Given the description of an element on the screen output the (x, y) to click on. 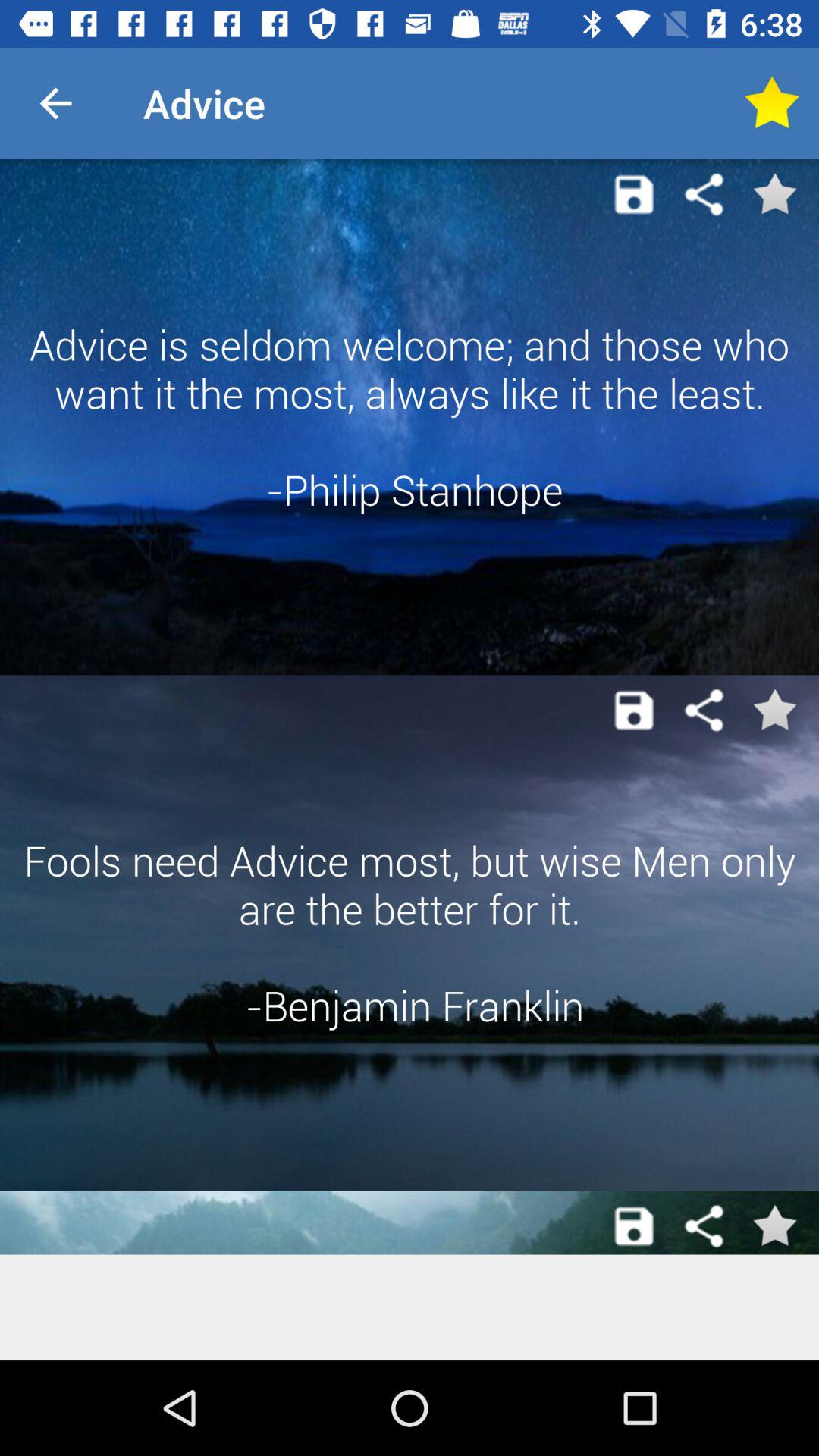
share the article (704, 710)
